Given the description of an element on the screen output the (x, y) to click on. 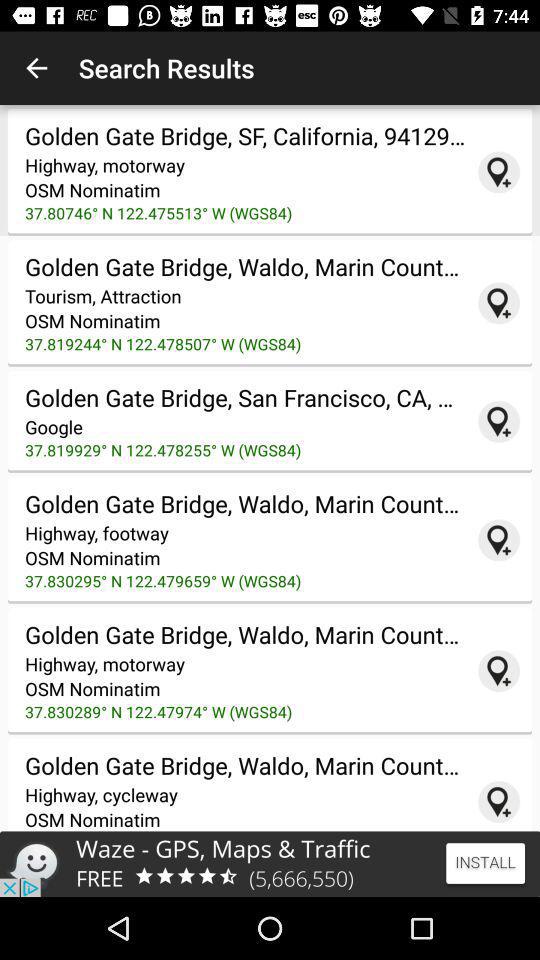
link to map (499, 303)
